Given the description of an element on the screen output the (x, y) to click on. 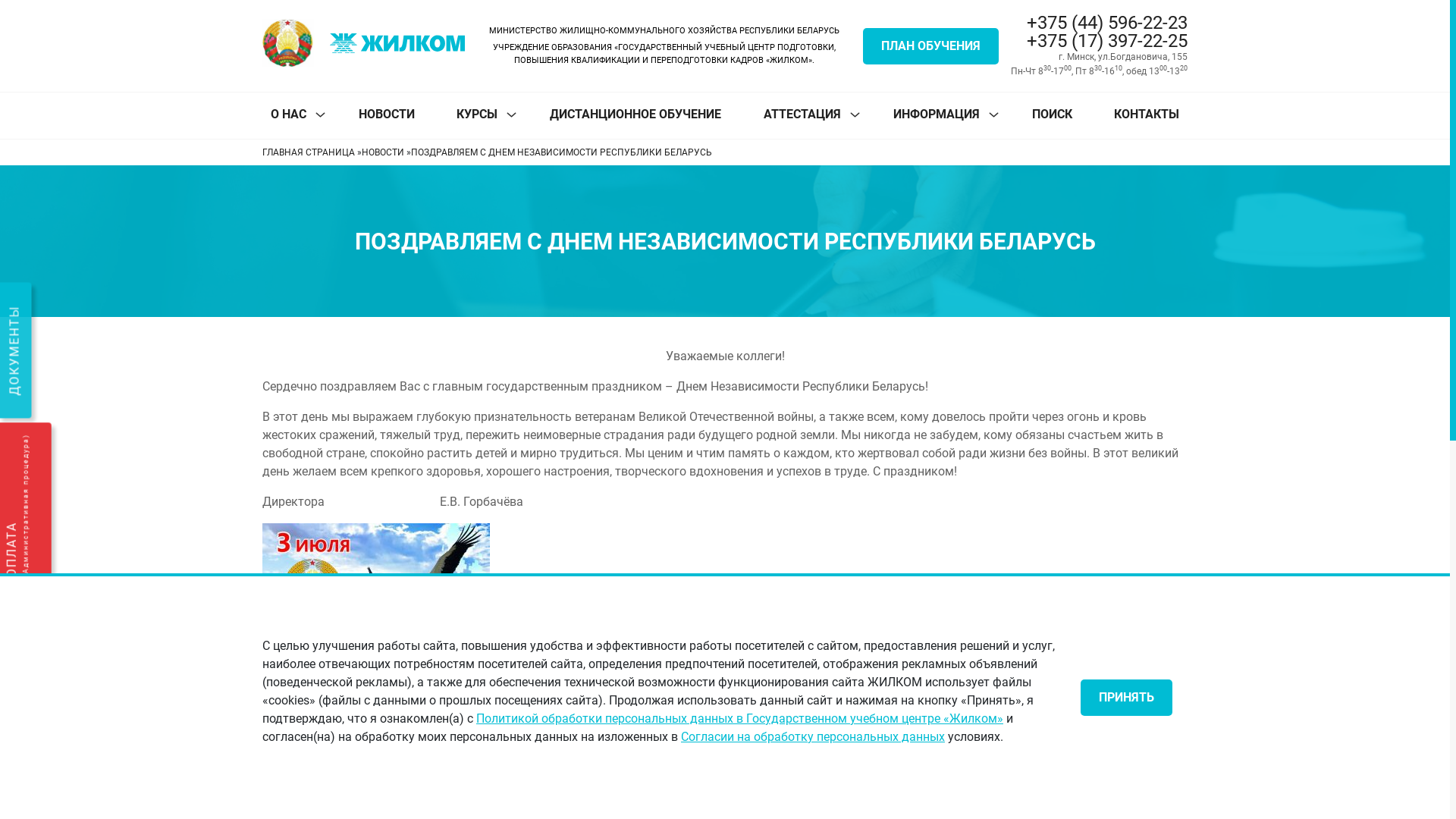
+375 (17) 397-22-25 Element type: text (1098, 40)
WhatsApp Element type: hover (368, 777)
Viber Element type: hover (347, 777)
+375 (44) 596-22-23 Element type: text (1098, 22)
Skype Element type: hover (389, 777)
Twitter Element type: hover (325, 777)
Telegram Element type: hover (410, 777)
